Given the description of an element on the screen output the (x, y) to click on. 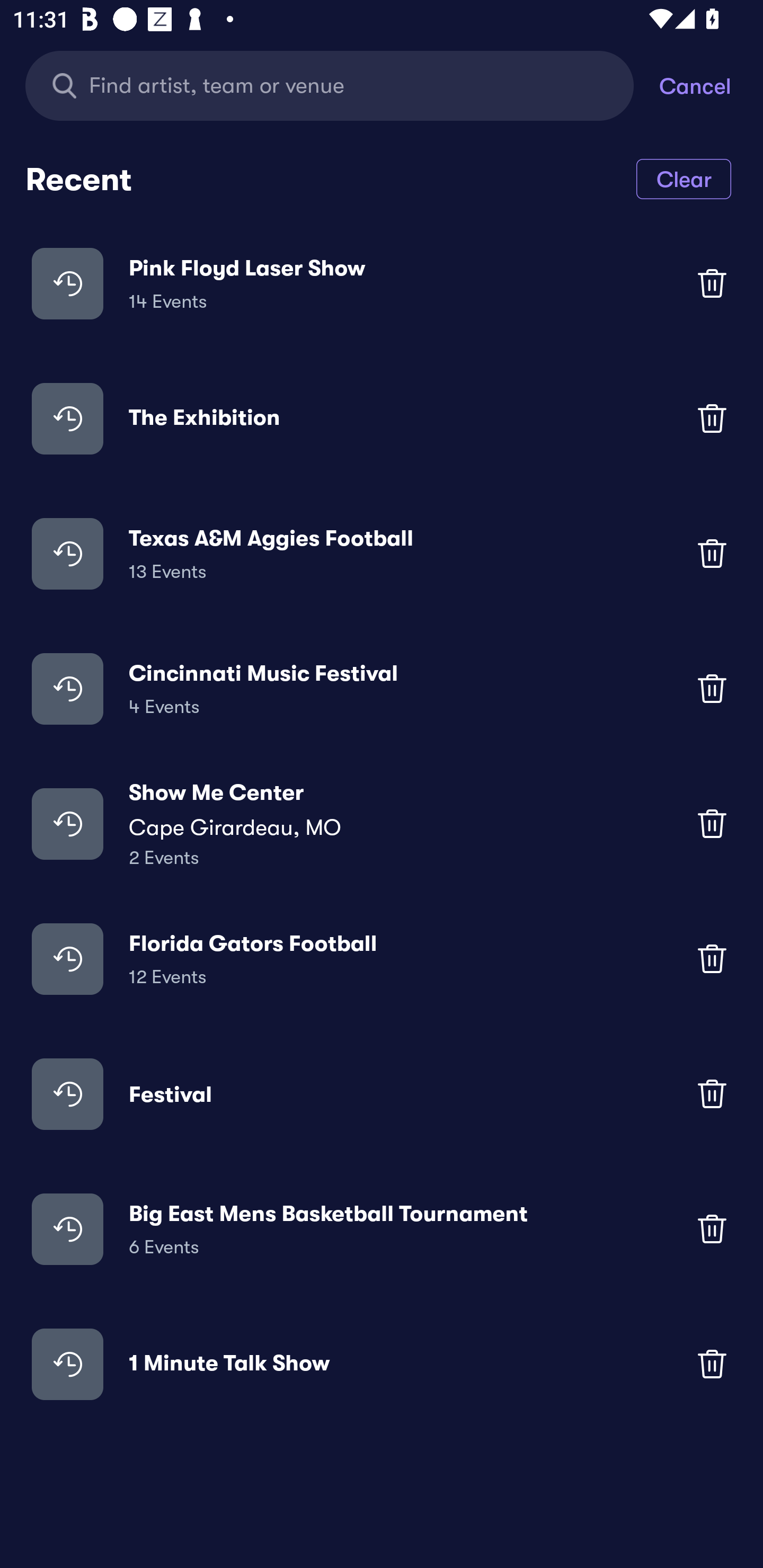
Find artist, team or venue Find (329, 85)
Find artist, team or venue Find (342, 85)
Cancel (711, 85)
Clear (683, 178)
Pink Floyd Laser Show 14 Events (381, 282)
The Exhibition (381, 417)
Texas A&M Aggies Football 13 Events (381, 553)
Cincinnati Music Festival 4 Events (381, 688)
Show Me Center Cape Girardeau, MO 2 Events (381, 823)
Florida Gators Football 12 Events (381, 958)
Festival (381, 1093)
Big East Mens Basketball Tournament 6 Events (381, 1228)
1 Minute Talk Show (381, 1364)
